Given the description of an element on the screen output the (x, y) to click on. 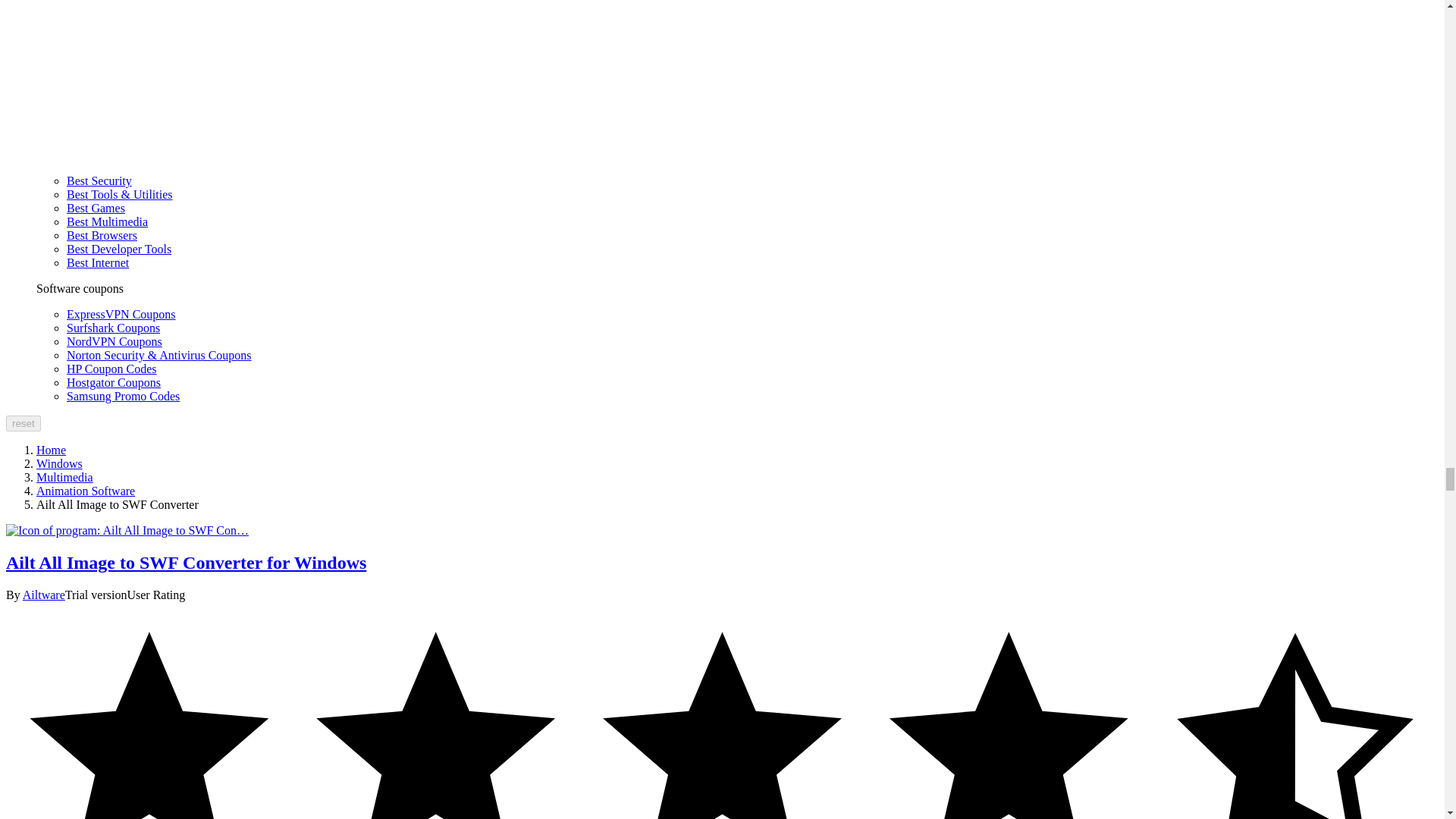
reset (22, 423)
Ailt All Image to SWF Converter for Windows (126, 530)
